Given the description of an element on the screen output the (x, y) to click on. 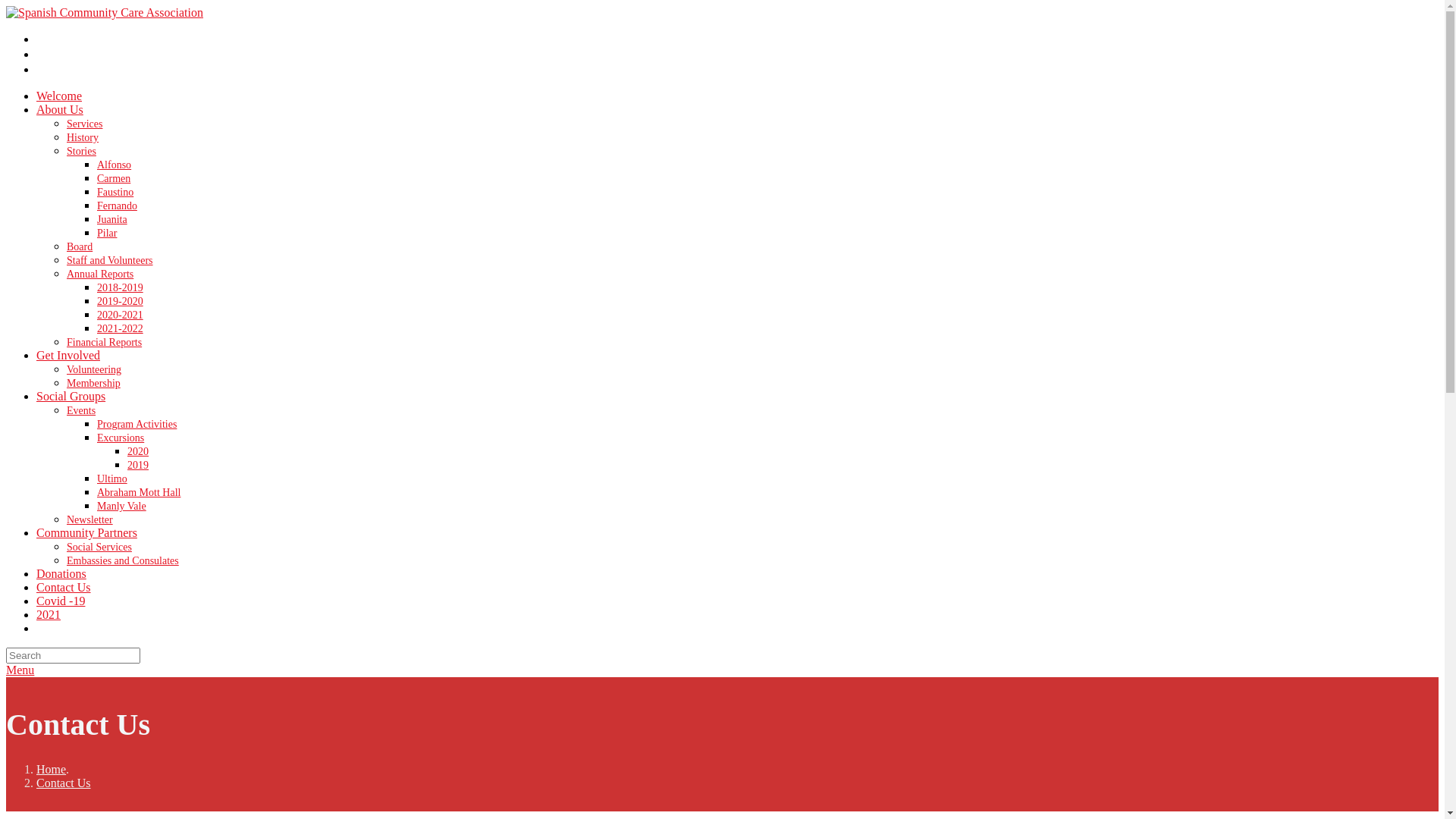
Welcome Element type: text (58, 95)
Program Activities Element type: text (136, 423)
2019 Element type: text (137, 464)
Covid -19 Element type: text (60, 600)
Juanita Element type: text (112, 219)
Contact Us Element type: text (63, 586)
Donations Element type: text (61, 573)
Excursions Element type: text (120, 437)
Stories Element type: text (81, 150)
2021-2022 Element type: text (120, 328)
Contact Us Element type: text (63, 782)
Abraham Mott Hall Element type: text (138, 492)
Membership Element type: text (93, 383)
Staff and Volunteers Element type: text (109, 260)
2020 Element type: text (137, 451)
Annual Reports Element type: text (99, 273)
Get Involved Element type: text (68, 354)
2021 Element type: text (48, 614)
Home Element type: text (50, 768)
Embassies and Consulates Element type: text (122, 560)
Faustino Element type: text (115, 191)
Volunteering Element type: text (93, 369)
Community Partners Element type: text (86, 532)
Fernando Element type: text (117, 205)
Newsletter Element type: text (89, 519)
Menu Element type: text (20, 669)
Ultimo Element type: text (112, 478)
Events Element type: text (80, 410)
Pilar Element type: text (106, 232)
Alfonso Element type: text (114, 164)
Board Element type: text (79, 246)
2020-2021 Element type: text (120, 314)
Social Services Element type: text (98, 546)
Carmen Element type: text (113, 178)
History Element type: text (82, 137)
2019-2020 Element type: text (120, 301)
Services Element type: text (84, 123)
2018-2019 Element type: text (120, 287)
Social Groups Element type: text (70, 395)
Manly Vale Element type: text (121, 505)
About Us Element type: text (59, 109)
Financial Reports Element type: text (103, 342)
